Given the description of an element on the screen output the (x, y) to click on. 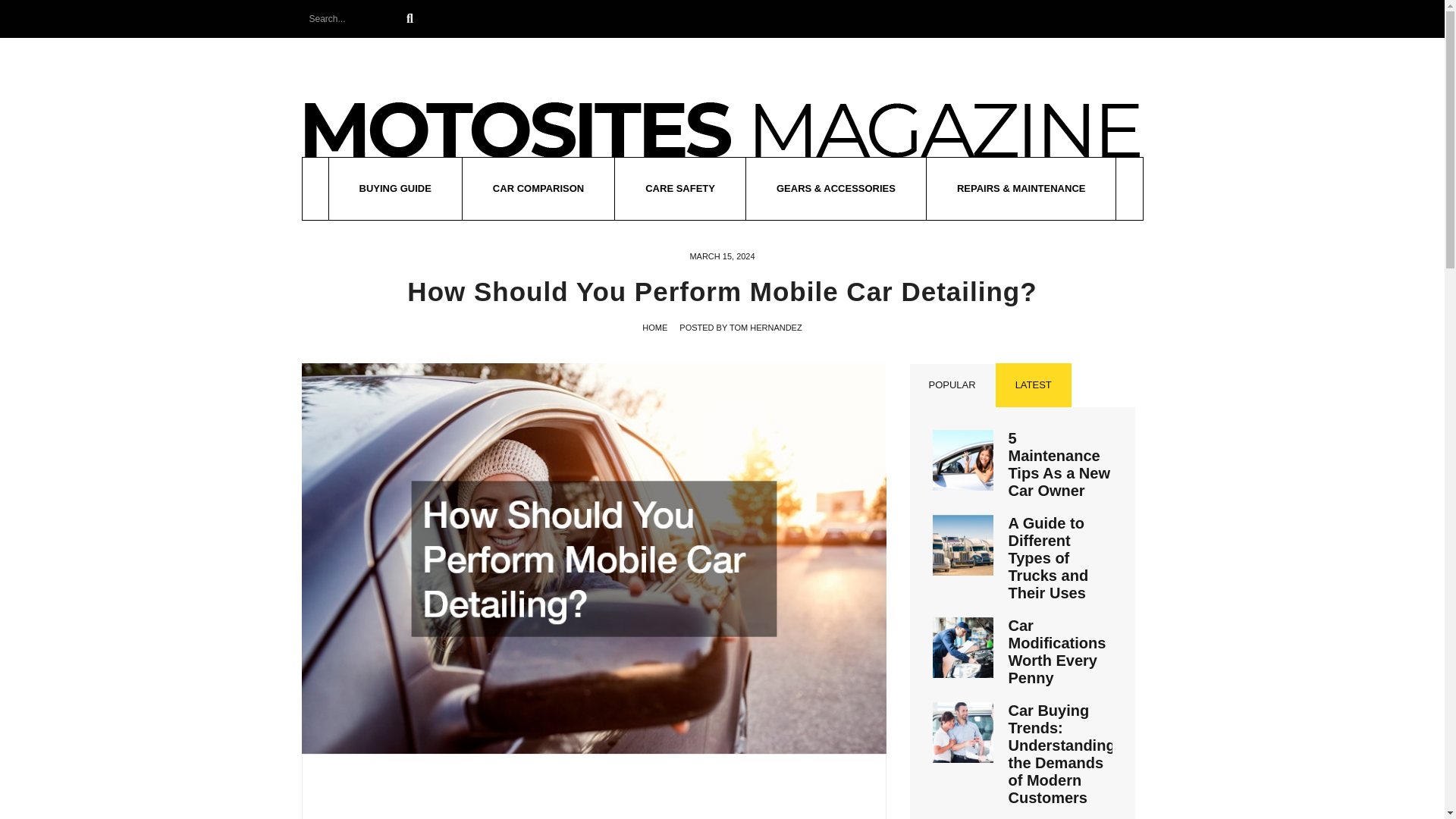
MARCH 15, 2024 (721, 255)
5 Maintenance Tips As a New Car Owner (1059, 463)
BUYING GUIDE (395, 189)
A Guide to Different Types of Trucks and Their Uses (1049, 558)
CARE SAFETY (679, 189)
CAR COMPARISON (538, 189)
Search (408, 18)
Car Modifications Worth Every Penny (1057, 651)
HOME (654, 327)
